Given the description of an element on the screen output the (x, y) to click on. 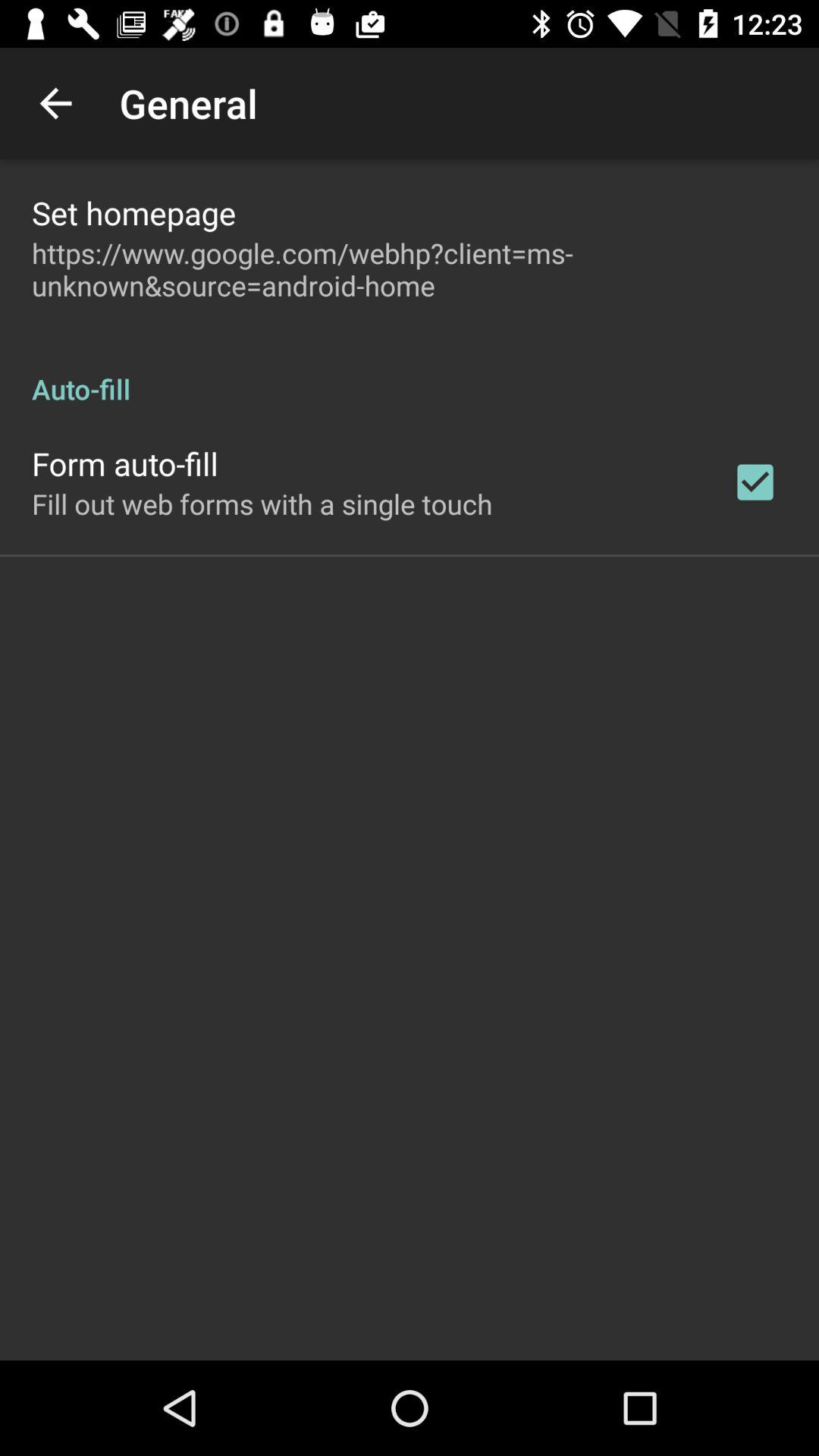
turn on item below the form auto-fill app (261, 503)
